Given the description of an element on the screen output the (x, y) to click on. 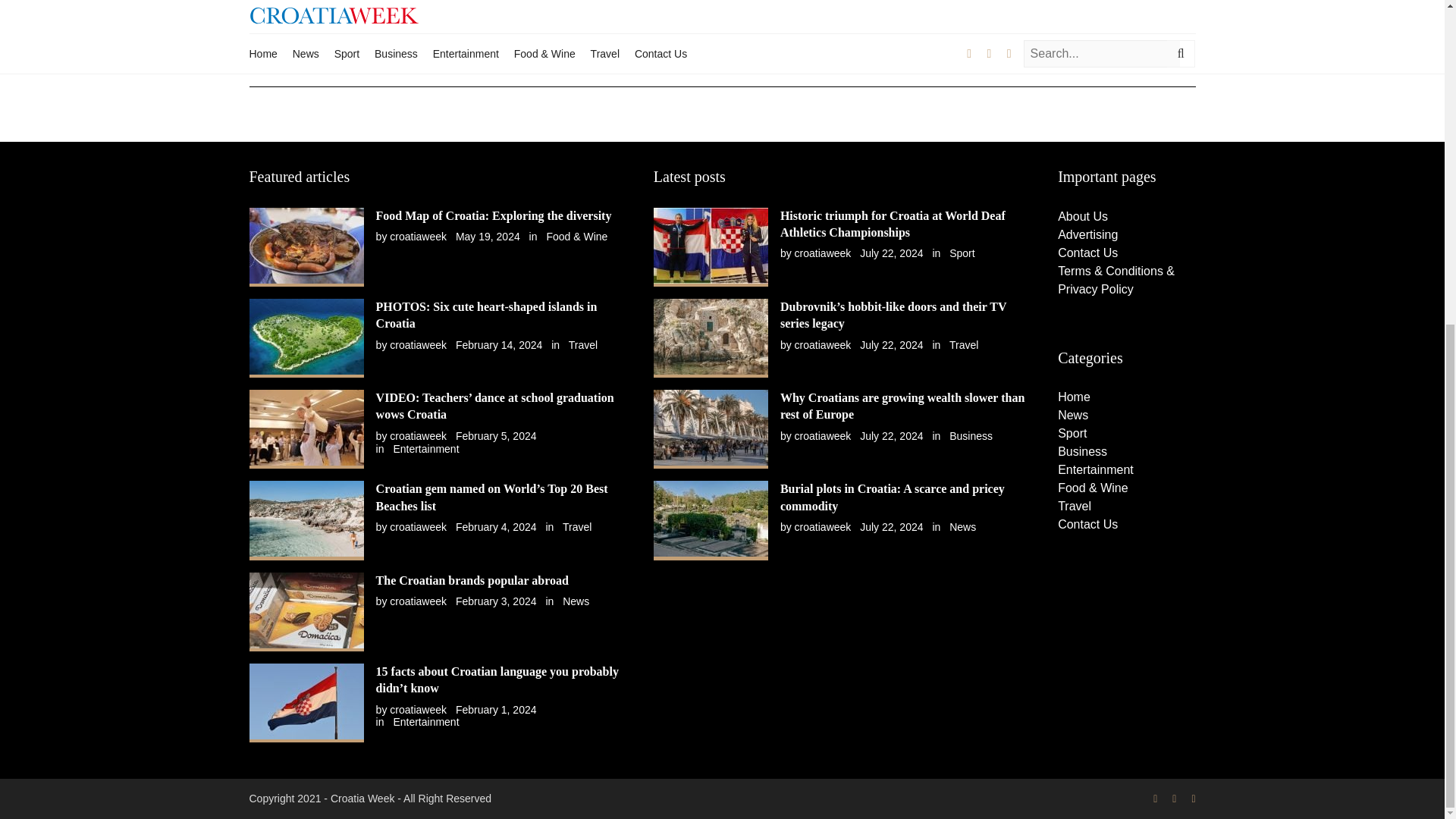
Food Map of Croatia: Exploring the diversity (493, 215)
Dubrovnik City Walls Welcome 1,000,000th Visitor (452, 8)
PHOTOS: Six cute heart-shaped islands in Croatia (485, 315)
croatiaweek (418, 526)
croatiaweek (418, 345)
Travel (582, 345)
Entertainment (425, 449)
croatiaweek (418, 236)
croatiaweek (418, 435)
